Given the description of an element on the screen output the (x, y) to click on. 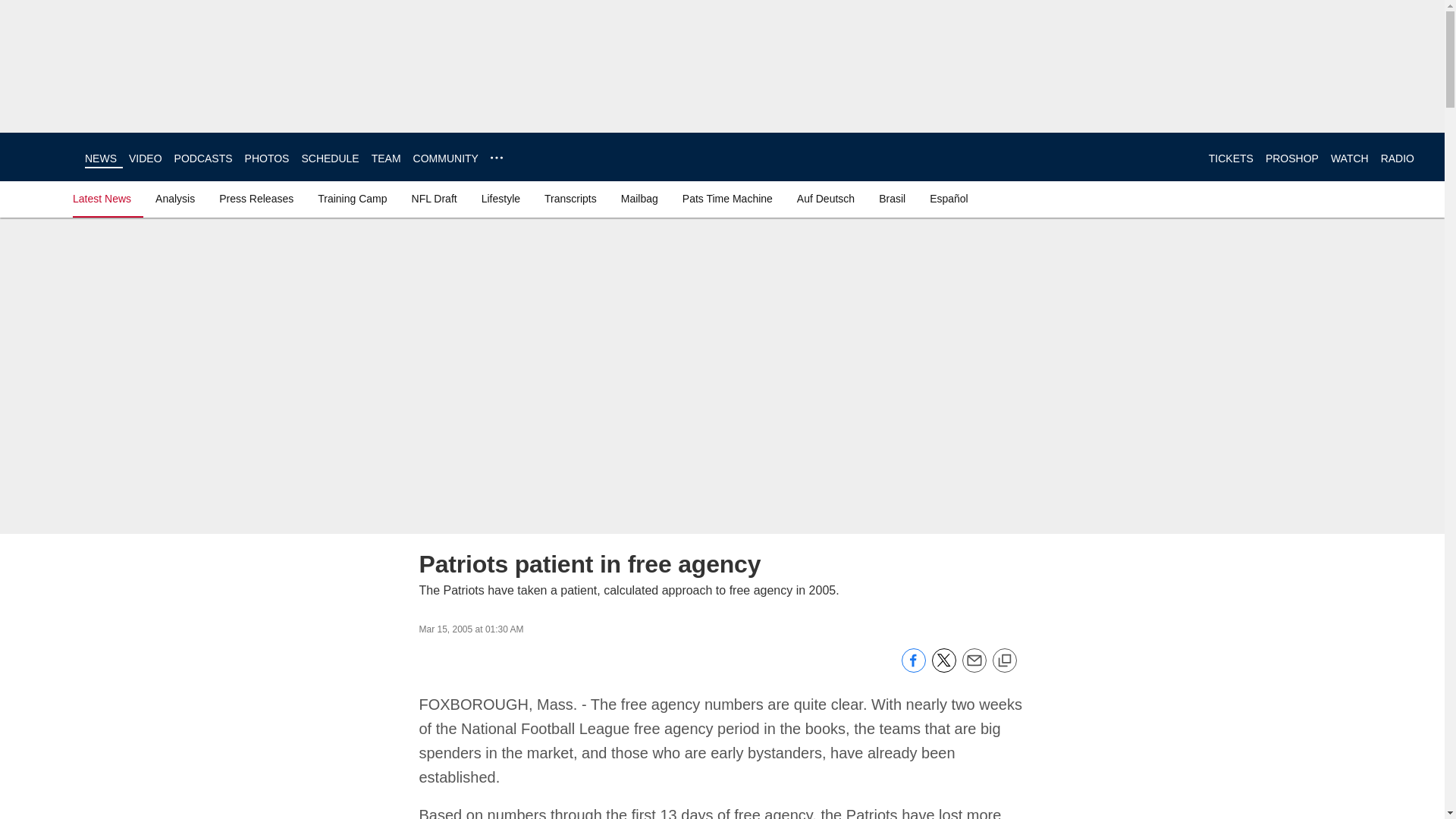
WATCH (1349, 158)
... (496, 157)
SCHEDULE (329, 158)
SCHEDULE (329, 158)
VIDEO (145, 158)
RADIO (1396, 158)
PODCASTS (203, 158)
PROSHOP (1292, 158)
NFL Draft (434, 198)
NEWS (100, 158)
